Given the description of an element on the screen output the (x, y) to click on. 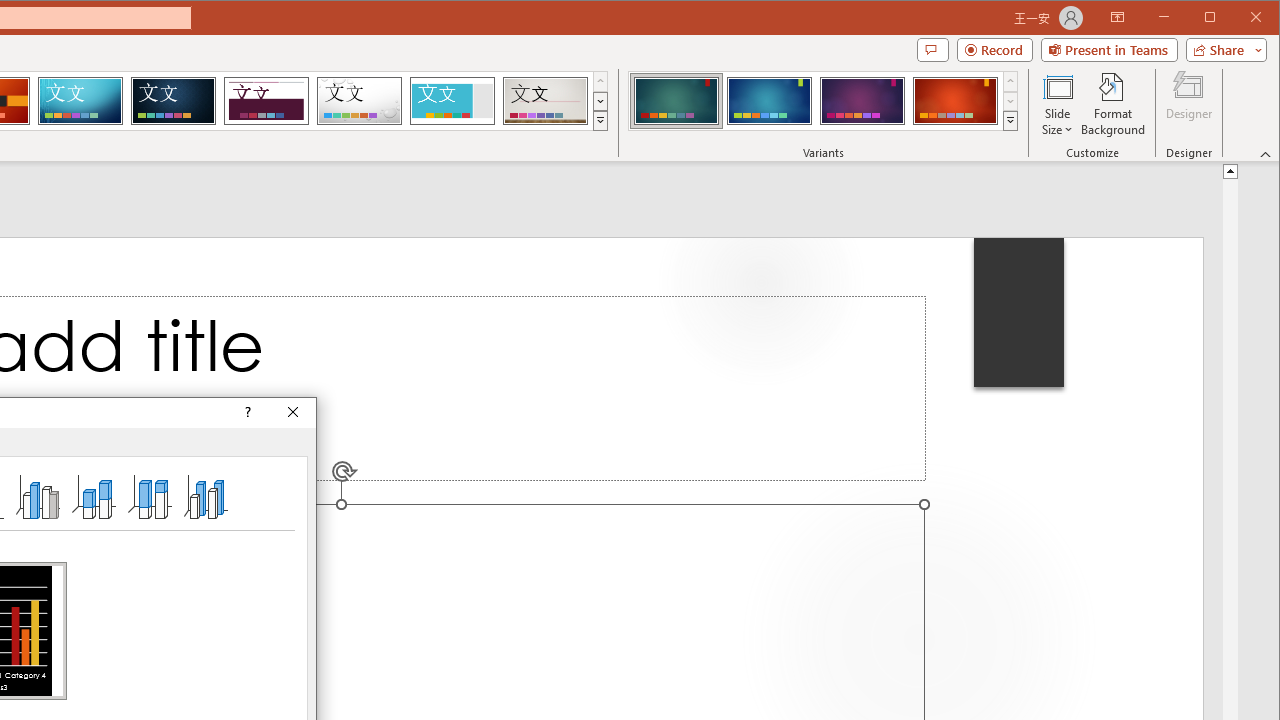
Ion Variant 1 (676, 100)
Variants (1010, 120)
Ion Variant 3 (862, 100)
Gallery (545, 100)
Format Background (1113, 104)
Themes (600, 120)
3-D Stacked Column (93, 496)
Context help (246, 412)
Frame (452, 100)
Ion Variant 2 (769, 100)
